Given the description of an element on the screen output the (x, y) to click on. 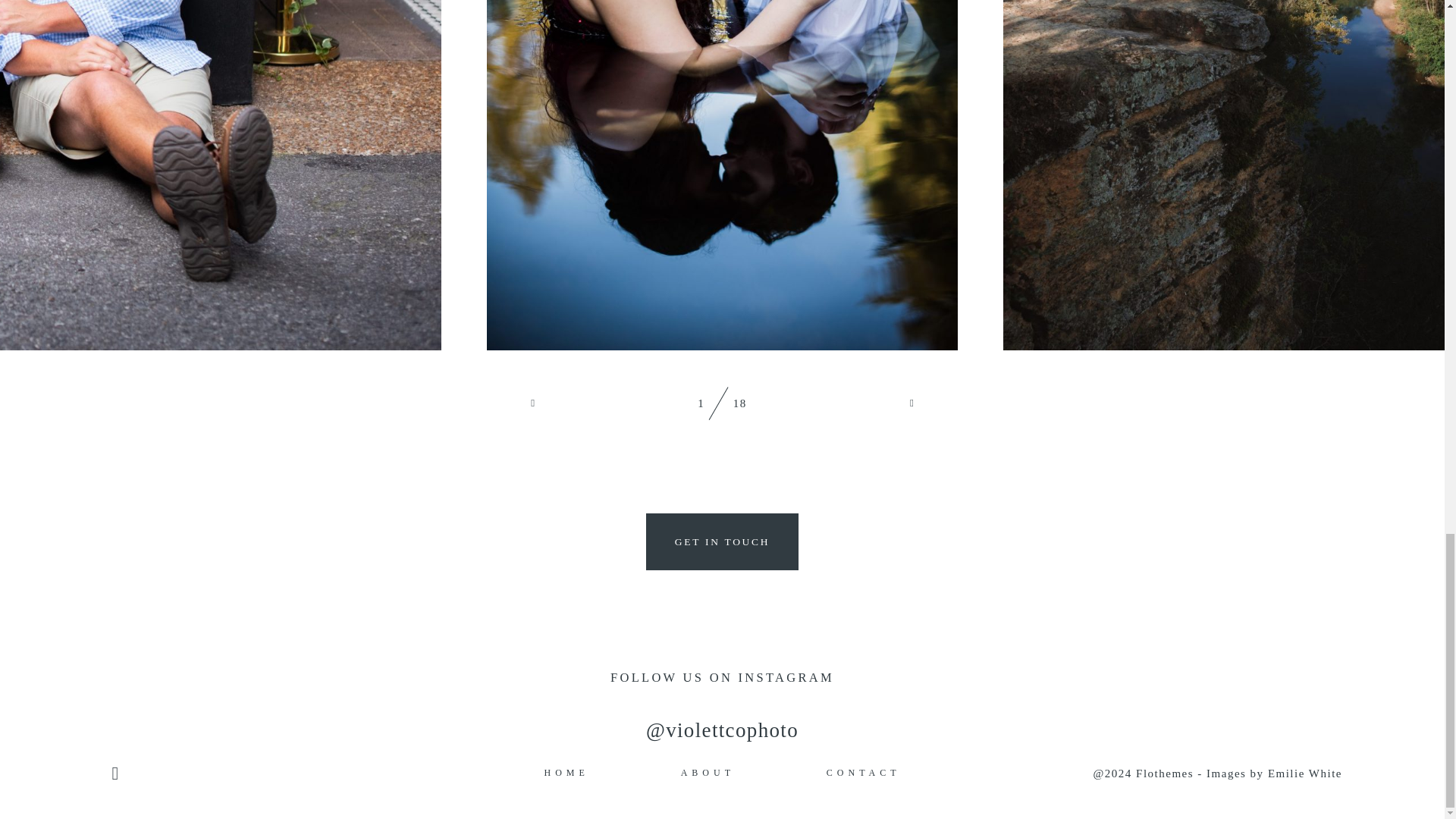
GET IN TOUCH (721, 541)
HOME (565, 772)
ABOUT (708, 772)
Emilie White (1305, 773)
CONTACT (864, 772)
